Given the description of an element on the screen output the (x, y) to click on. 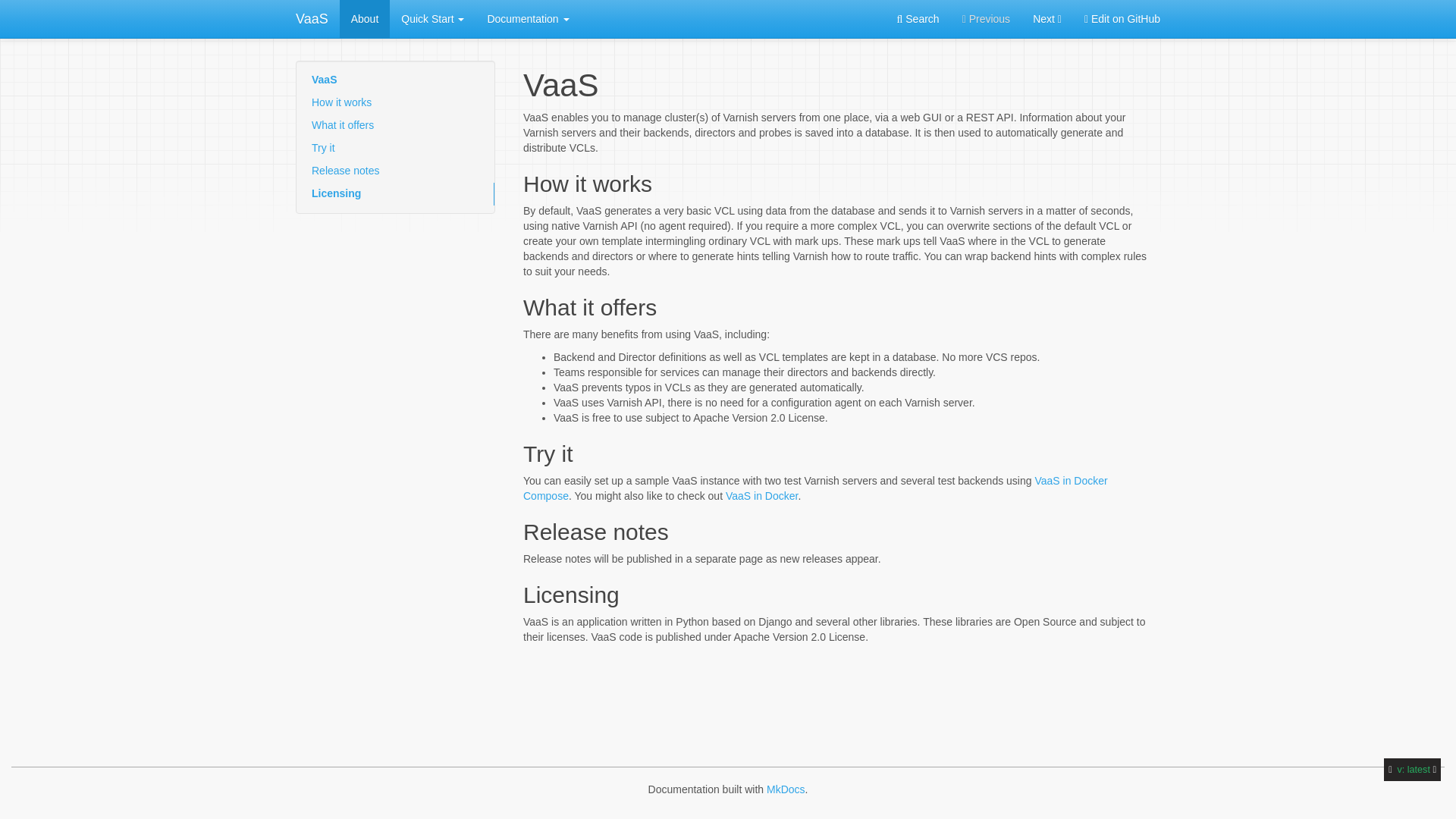
How it works (396, 102)
Try it (396, 148)
Licensing (396, 193)
Documentation (527, 18)
MkDocs (786, 788)
Quick Start (433, 18)
VaaS (396, 79)
VaaS in Docker (761, 495)
VaaS in Docker Compose (815, 488)
Next (1047, 18)
